Given the description of an element on the screen output the (x, y) to click on. 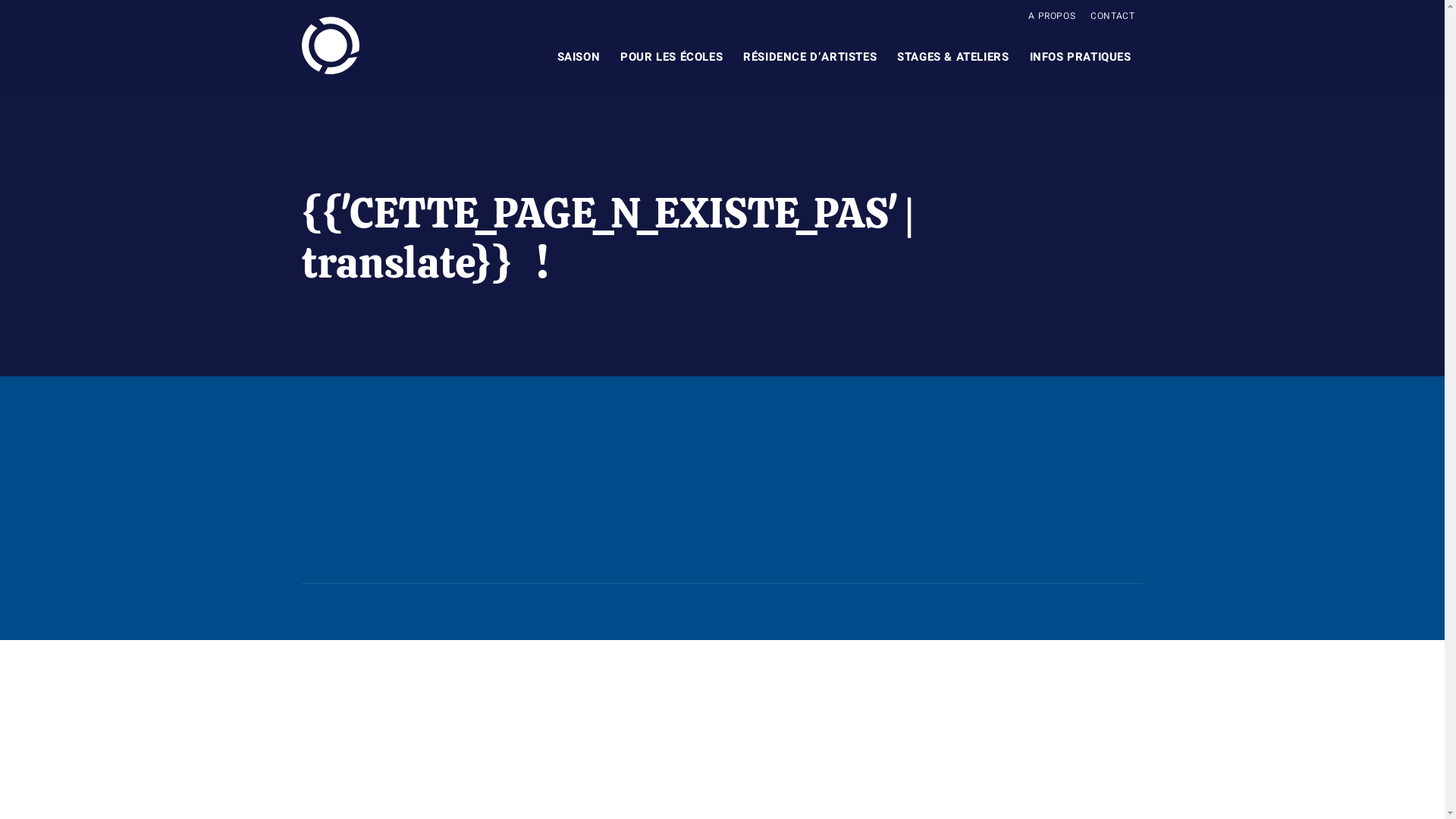
SAISON Element type: text (578, 56)
INFOS PRATIQUES Element type: text (1080, 56)
STAGES & ATELIERS Element type: text (952, 56)
CONTACT Element type: text (1112, 13)
A PROPOS Element type: text (1051, 13)
